Given the description of an element on the screen output the (x, y) to click on. 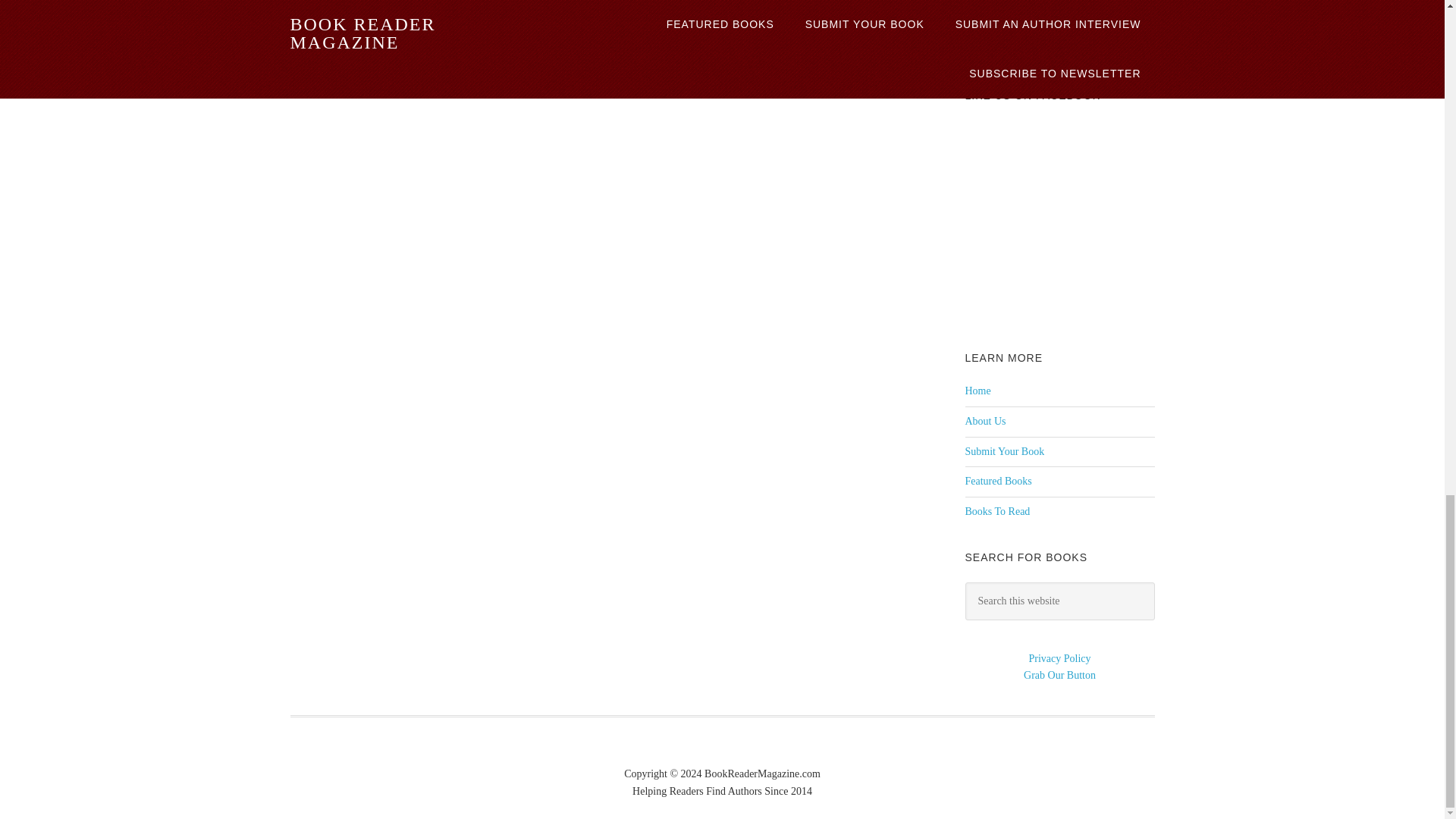
Facebook (978, 44)
